Given the description of an element on the screen output the (x, y) to click on. 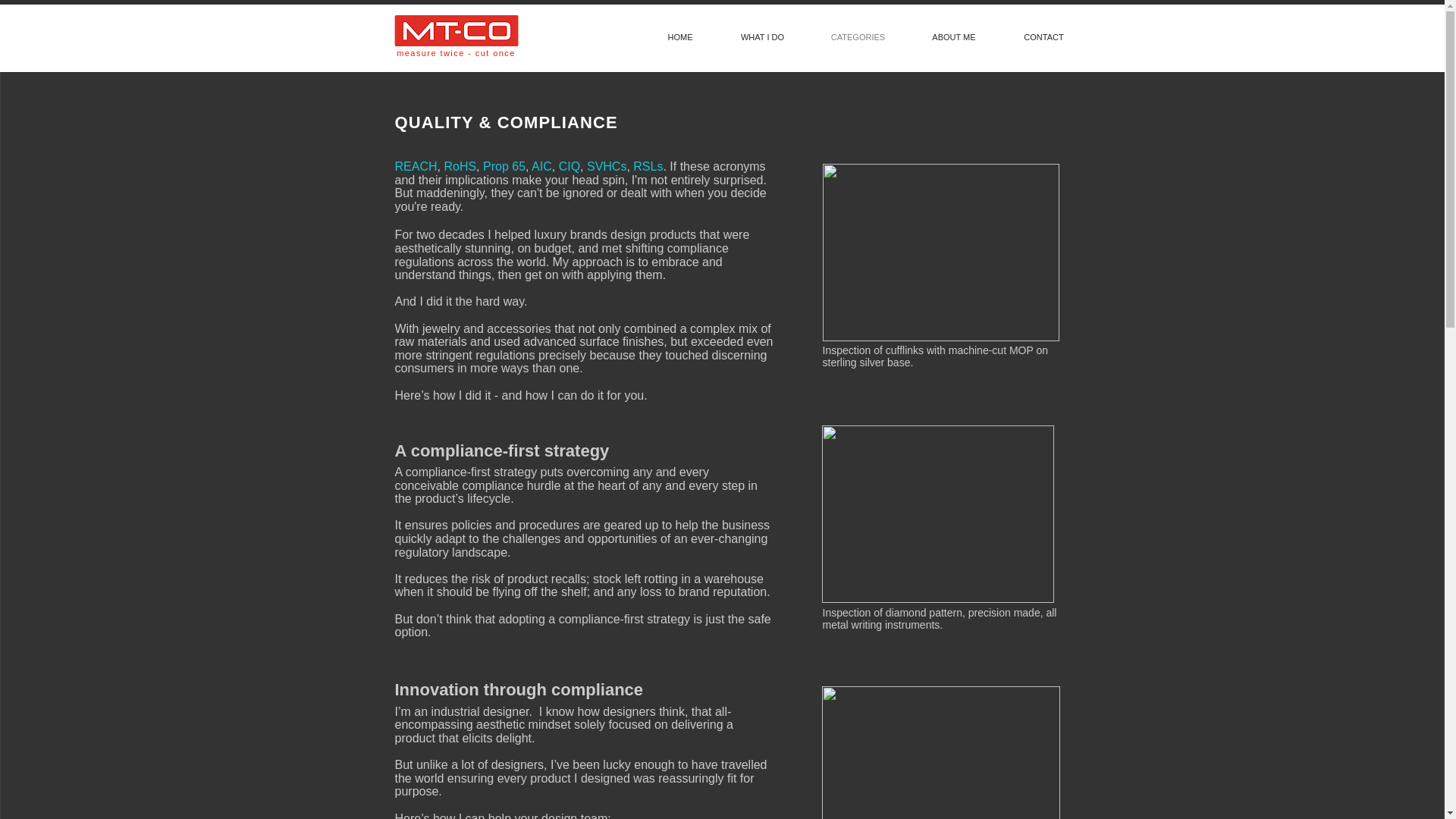
Machine cut MOP and silver cufflink inspection (940, 252)
WHAT I DO (762, 36)
REACH (415, 165)
AIC (541, 165)
HOME (679, 36)
CONTACT (1042, 36)
ABOUT ME (954, 36)
CATEGORIES (858, 36)
Prop 65 (504, 165)
RoHS (460, 165)
